Given the description of an element on the screen output the (x, y) to click on. 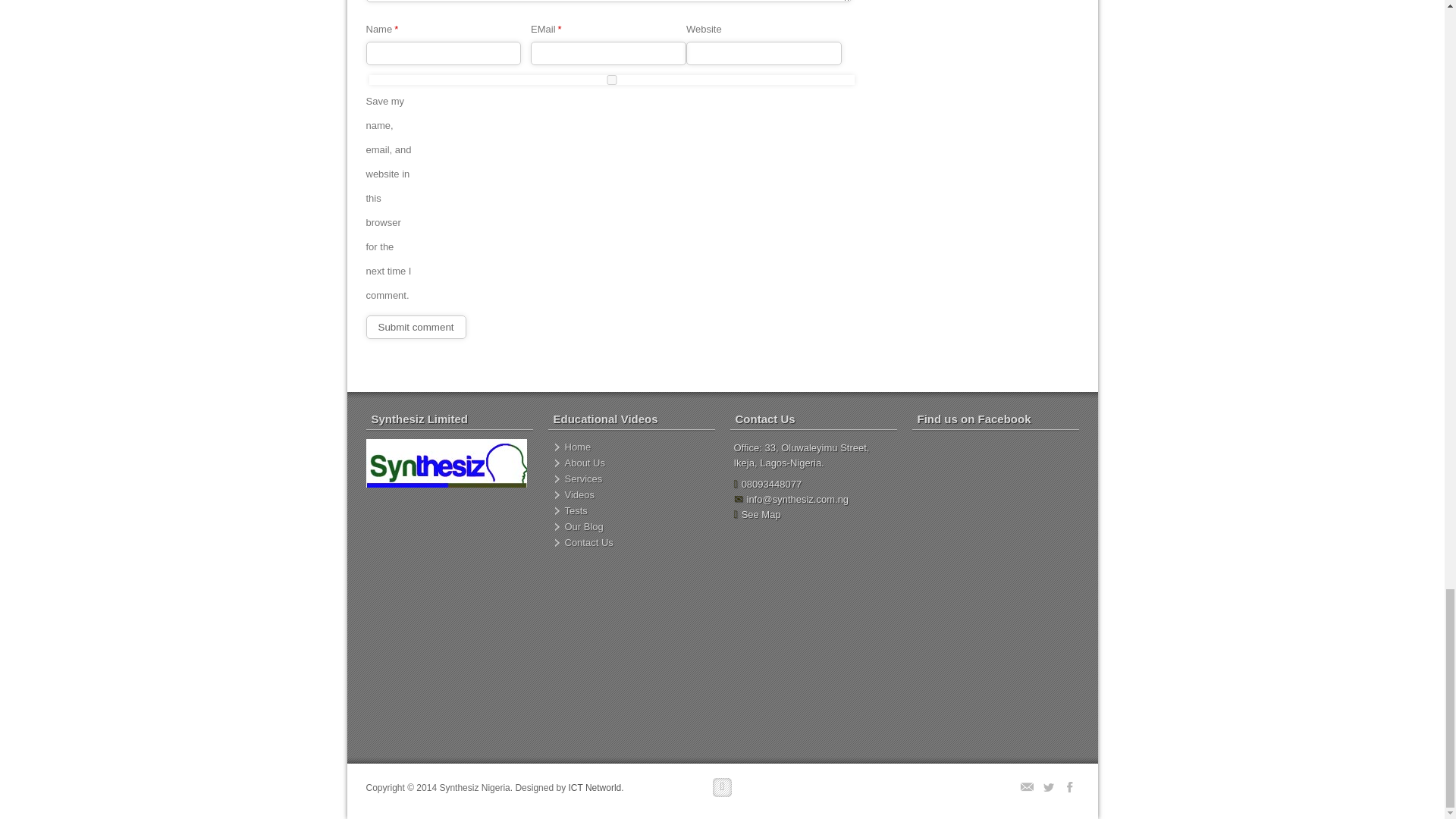
Submit comment (415, 327)
yes (610, 80)
Submit comment (415, 327)
